Given the description of an element on the screen output the (x, y) to click on. 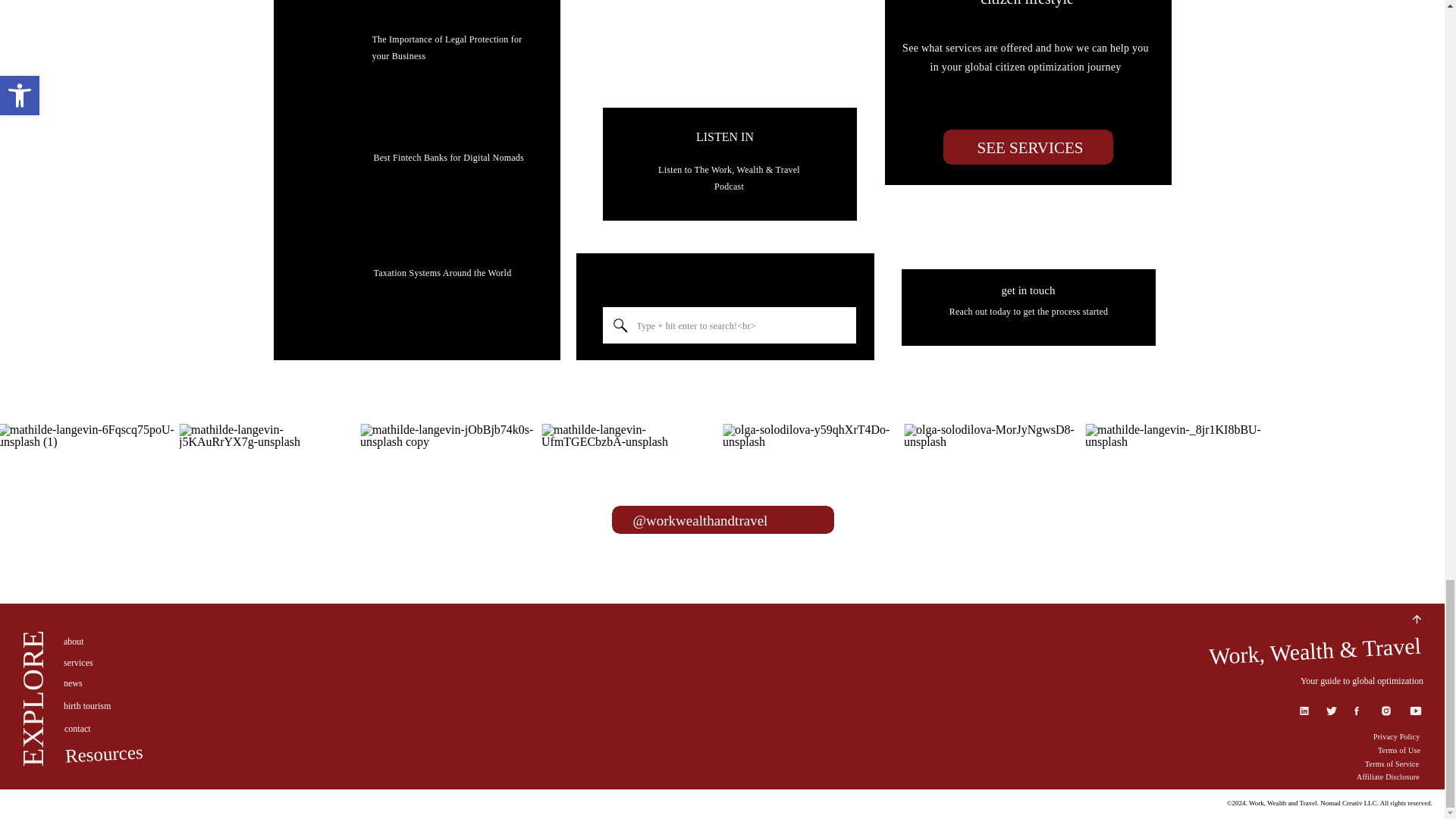
mathilde-langevin-jObBjb74k0s-unsplash copy (448, 512)
mathilde-langevin-UfmTGECbzbA-unsplash (630, 512)
olga-solodilova-y59qhXrT4Do-unsplash (811, 512)
olga-solodilova-MorJyNgwsD8-unsplash (992, 512)
mathilde-langevin-j5KAuRrYX7g-unsplash (267, 512)
